Given the description of an element on the screen output the (x, y) to click on. 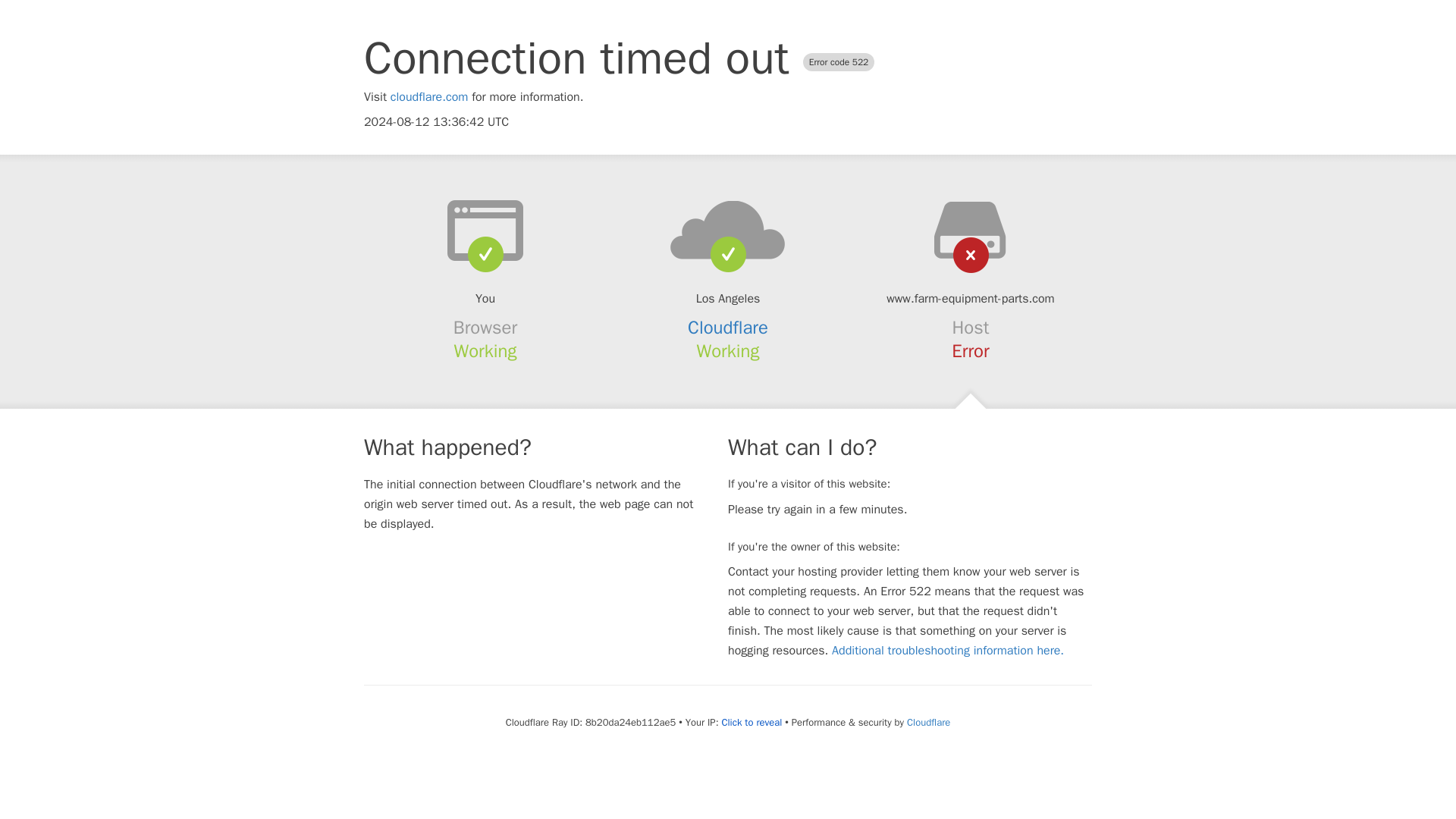
Cloudflare (727, 327)
Cloudflare (928, 721)
cloudflare.com (429, 96)
Click to reveal (750, 722)
Additional troubleshooting information here. (947, 650)
